Given the description of an element on the screen output the (x, y) to click on. 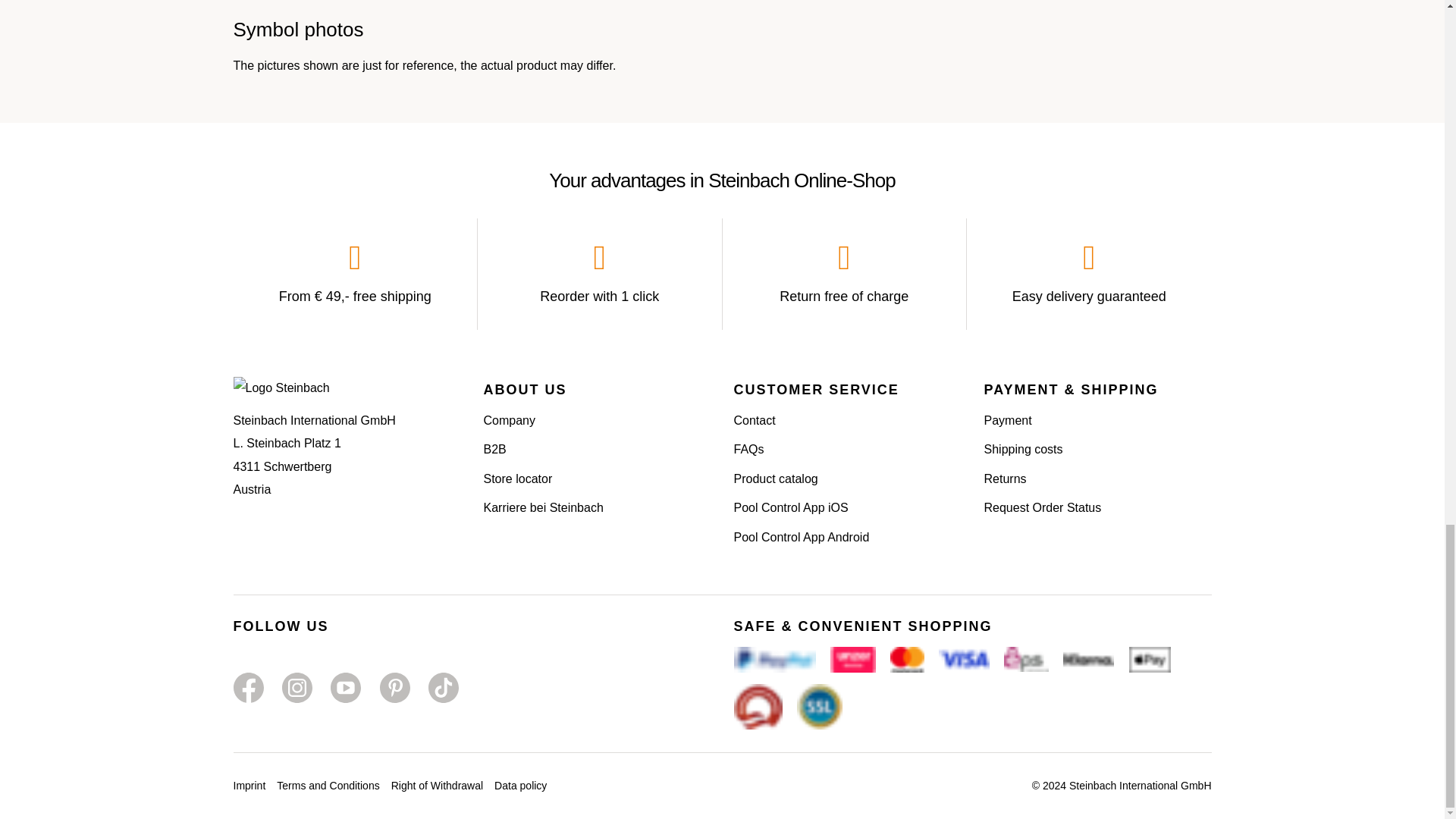
Mastercard (906, 659)
